Given the description of an element on the screen output the (x, y) to click on. 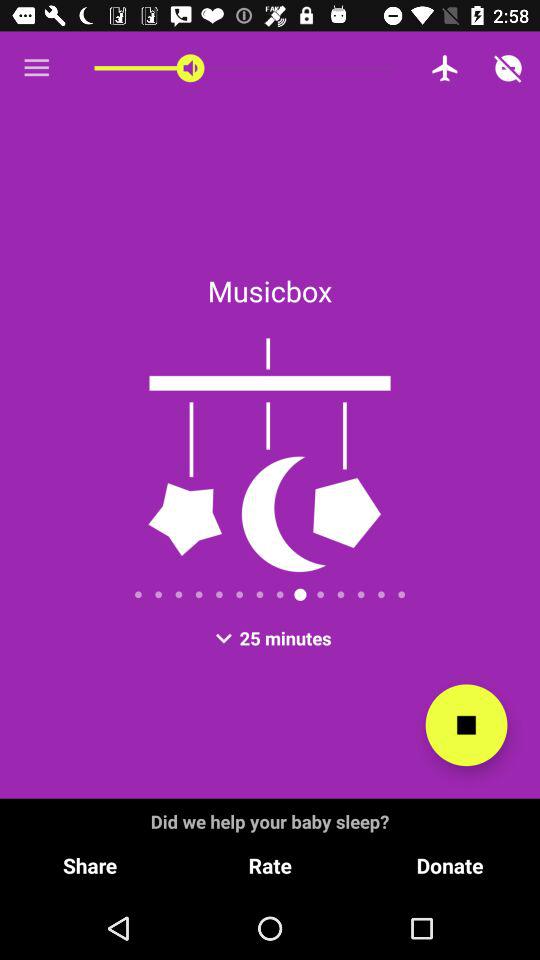
stop button (466, 725)
